Given the description of an element on the screen output the (x, y) to click on. 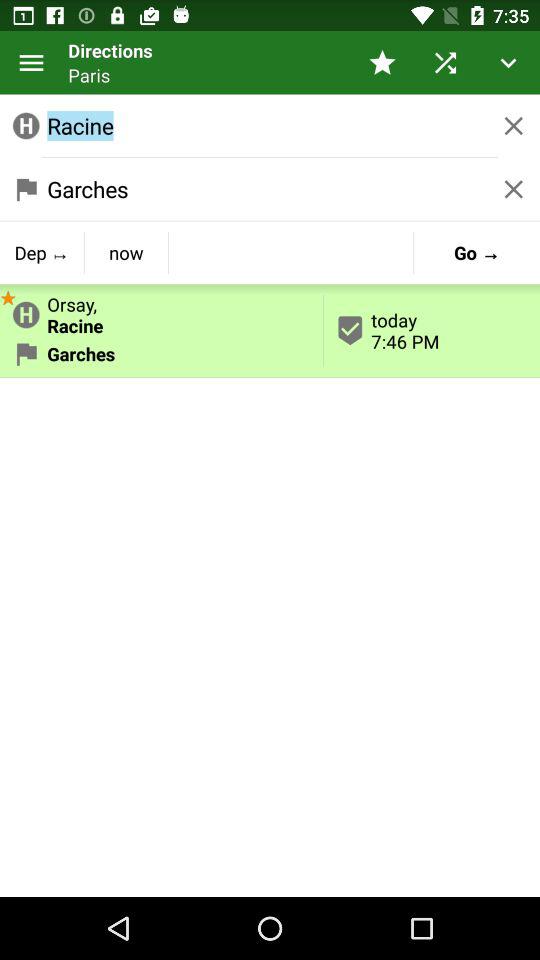
launch the app above orsay,
racine app (126, 252)
